Given the description of an element on the screen output the (x, y) to click on. 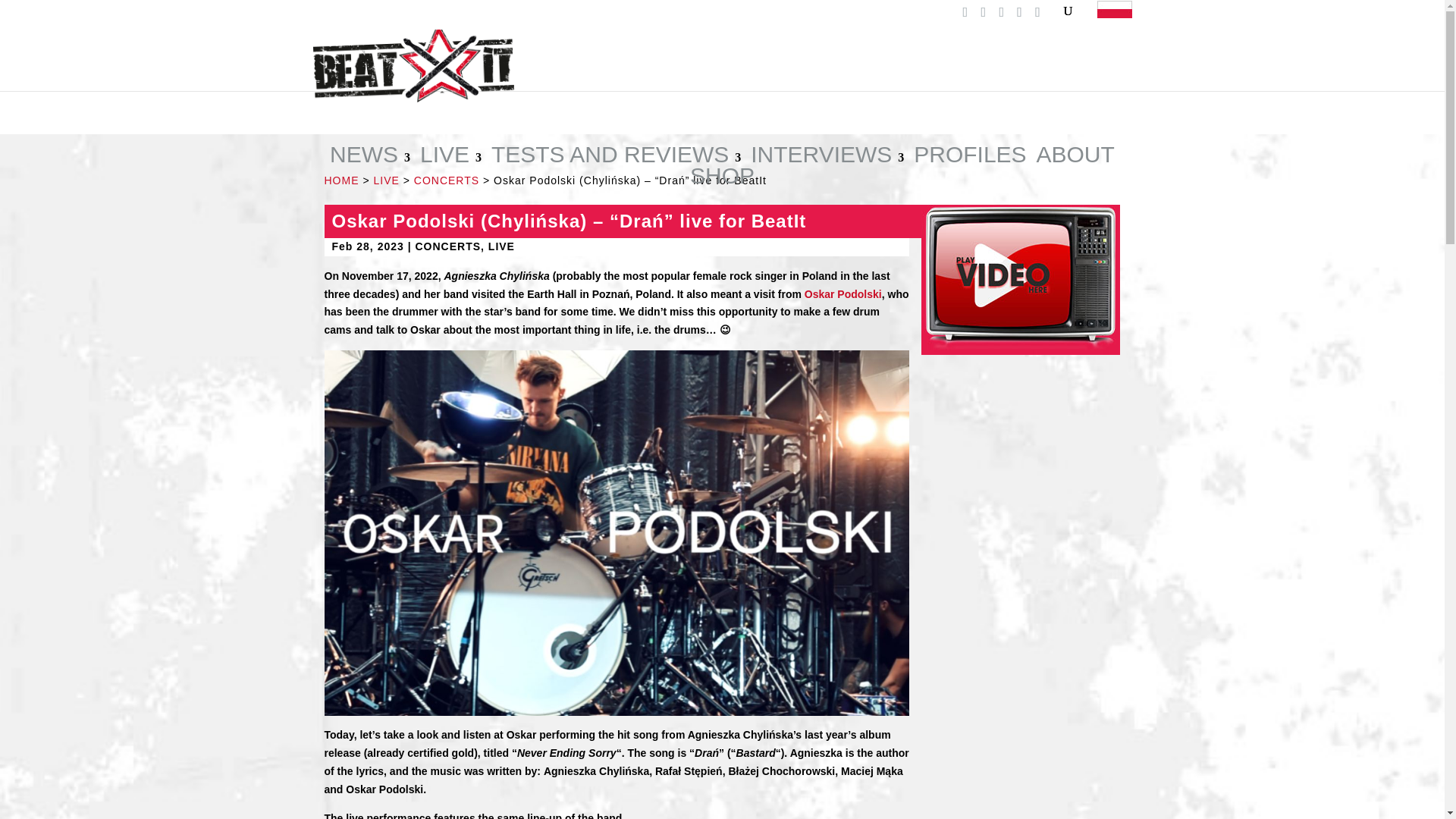
TESTS AND REVIEWS (615, 156)
Go to CONCERTS. (446, 180)
NEWS (369, 156)
Go to LIVE. (385, 180)
LIVE (450, 156)
Go to Beatit.tv. (341, 180)
